Given the description of an element on the screen output the (x, y) to click on. 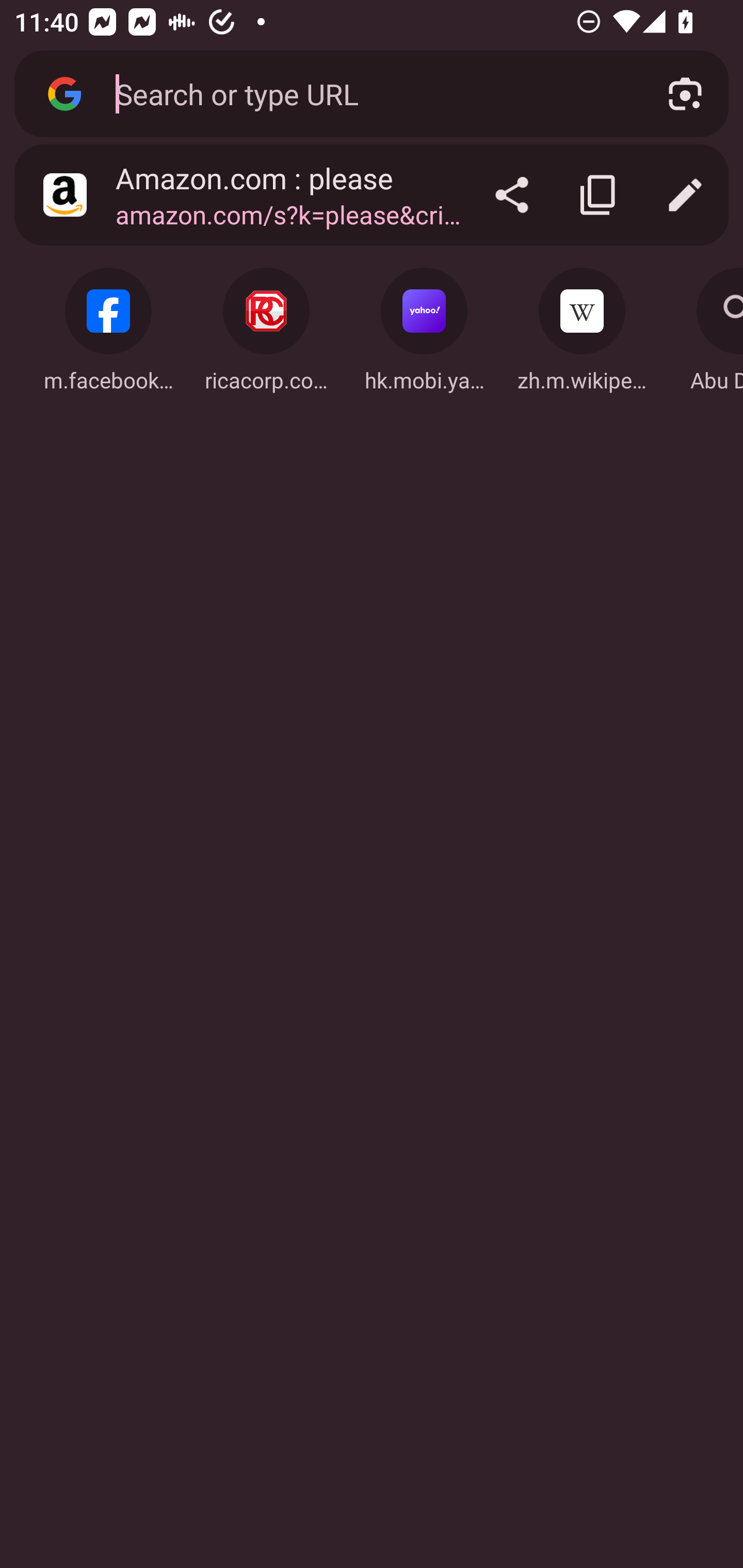
Search with your camera using Google Lens (684, 93)
Search or type URL (367, 92)
Share… (511, 195)
Copy link (598, 195)
Edit (684, 195)
Search: Abu Dhabi Abu Dhabi (705, 324)
